Given the description of an element on the screen output the (x, y) to click on. 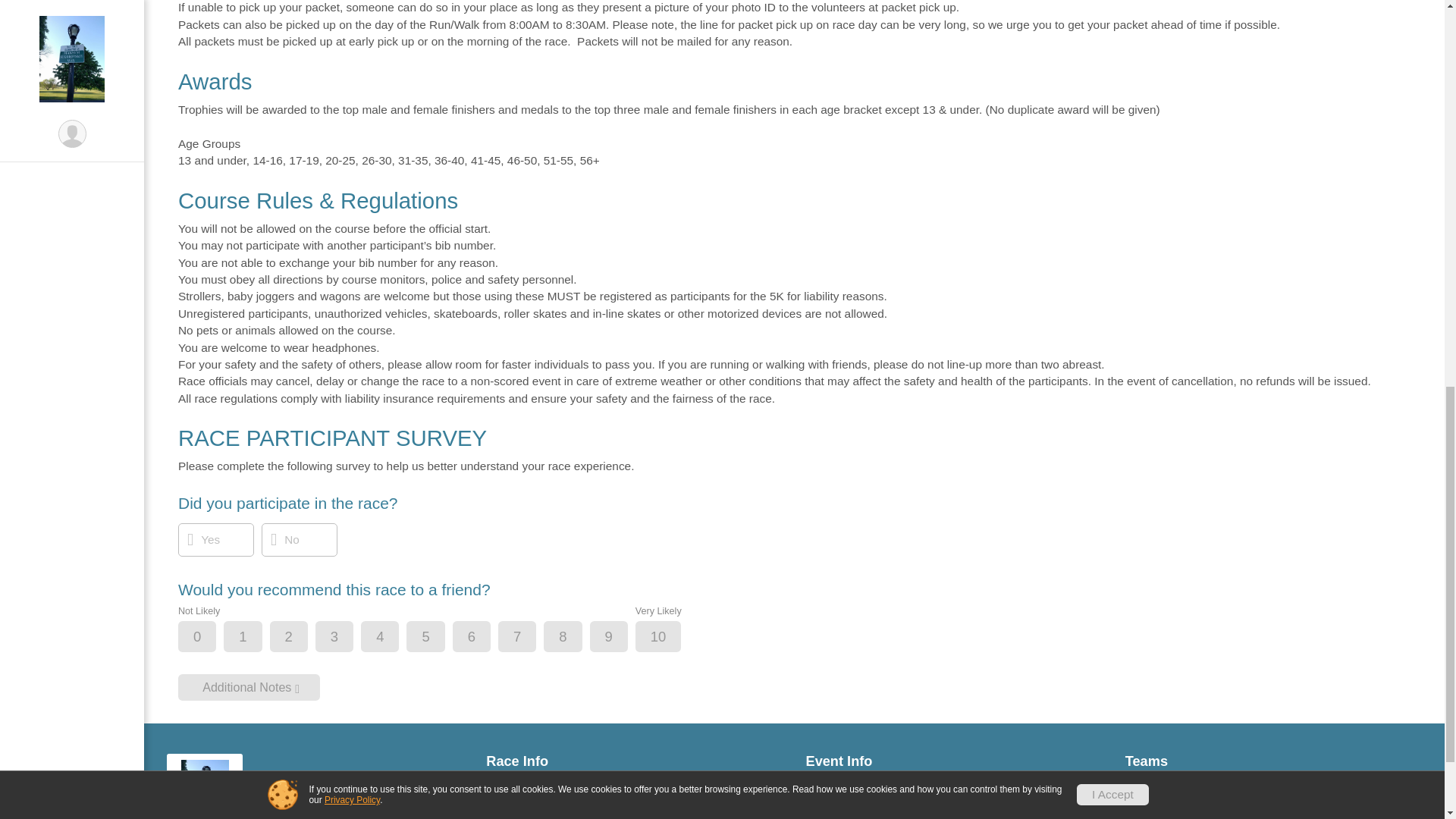
10 (671, 637)
0 (209, 637)
3 (346, 637)
8 (575, 637)
7 (529, 637)
Find a Participant (634, 797)
4 (391, 637)
6 (483, 637)
5 (437, 637)
Event Info (953, 761)
